Given the description of an element on the screen output the (x, y) to click on. 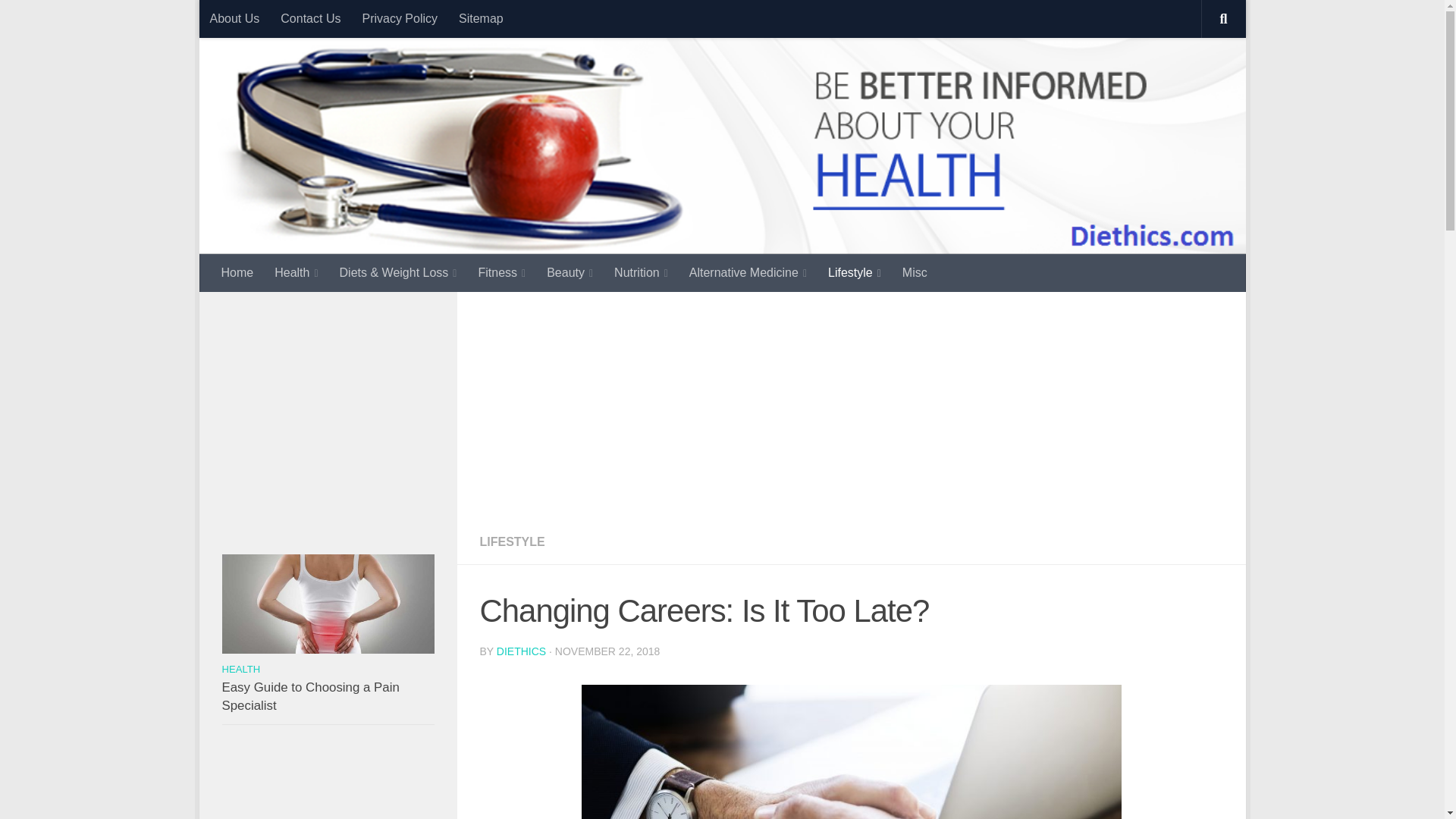
Skip to content (263, 20)
